Given the description of an element on the screen output the (x, y) to click on. 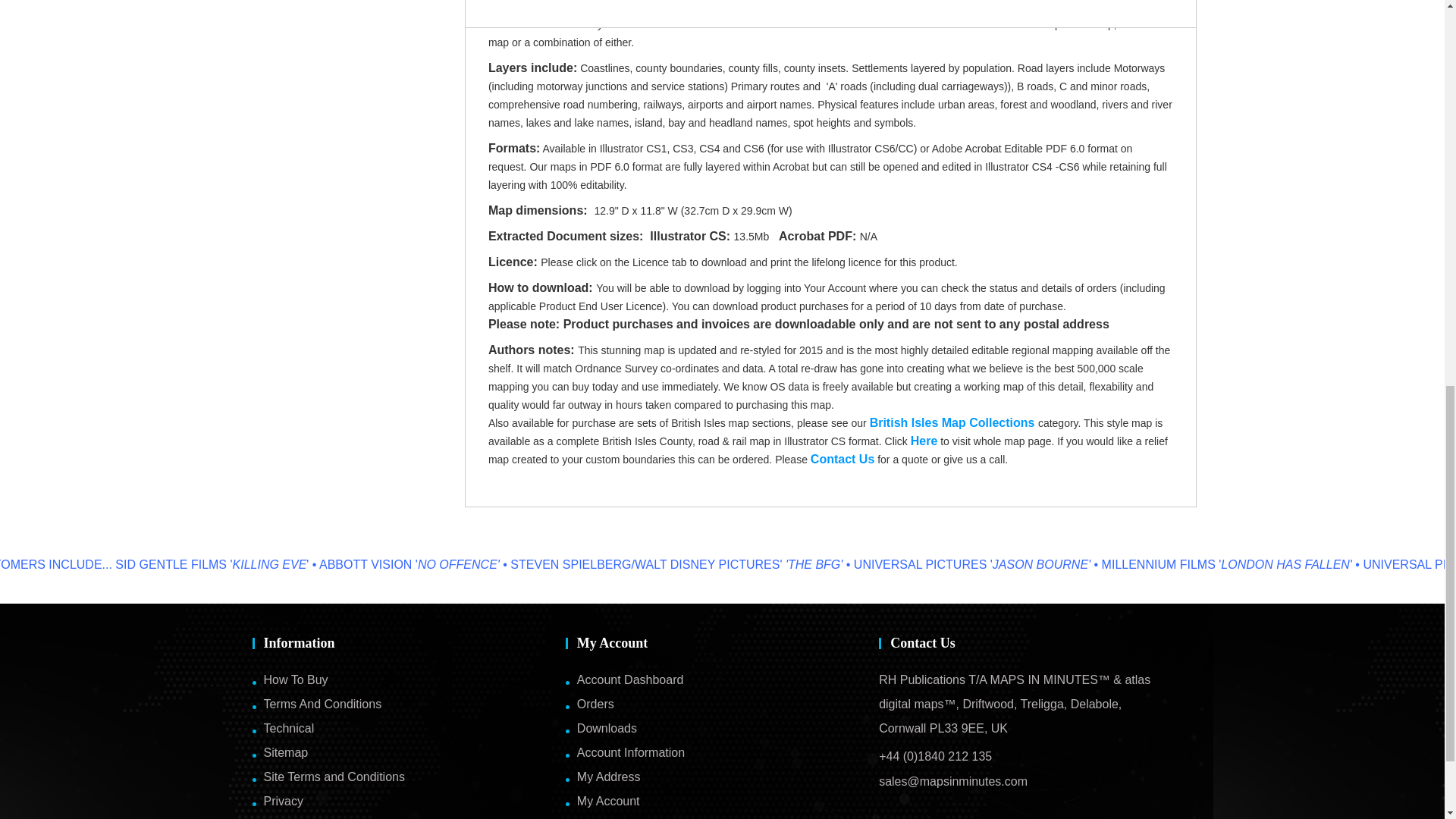
Contact Us (842, 459)
Go to full 500 map (924, 440)
